Given the description of an element on the screen output the (x, y) to click on. 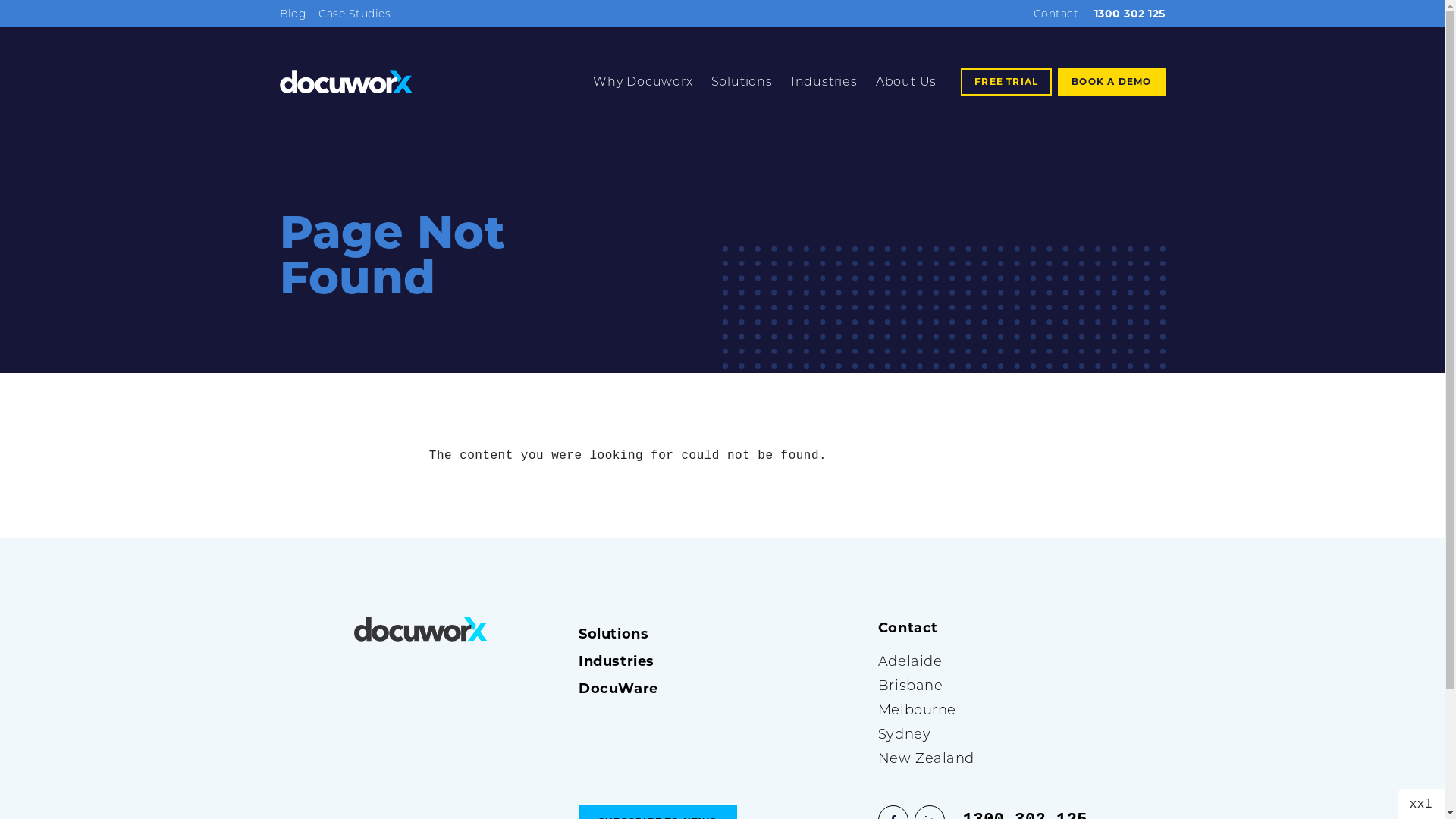
Melbourne Element type: text (984, 709)
Contact Element type: text (984, 627)
DocuWare Element type: text (722, 688)
Adelaide Element type: text (984, 660)
About Us Element type: text (905, 81)
Case Studies Element type: text (354, 13)
BOOK A DEMO Element type: text (1110, 81)
Why Docuworx Element type: text (642, 81)
Contact Element type: text (1055, 13)
New Zealand Element type: text (984, 757)
Sydney Element type: text (984, 733)
Blog Element type: text (292, 13)
FREE TRIAL Element type: text (1005, 81)
Solutions Element type: text (722, 633)
Industries Element type: text (722, 660)
1300 302 125 Element type: text (1123, 13)
Industries Element type: text (823, 81)
Brisbane Element type: text (984, 685)
Solutions Element type: text (741, 81)
